Given the description of an element on the screen output the (x, y) to click on. 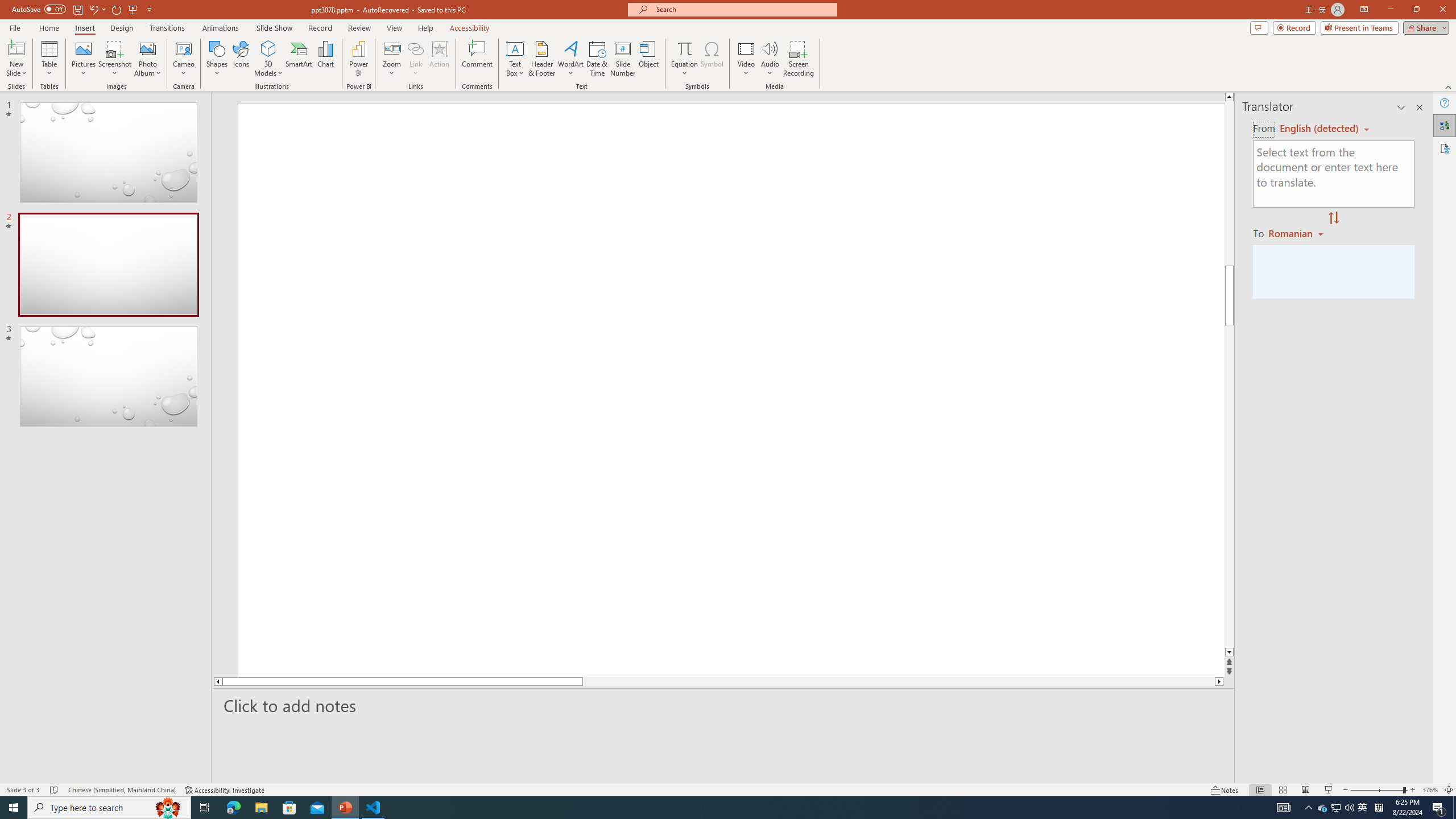
Date & Time... (596, 58)
Header & Footer... (541, 58)
Link (415, 58)
